Given the description of an element on the screen output the (x, y) to click on. 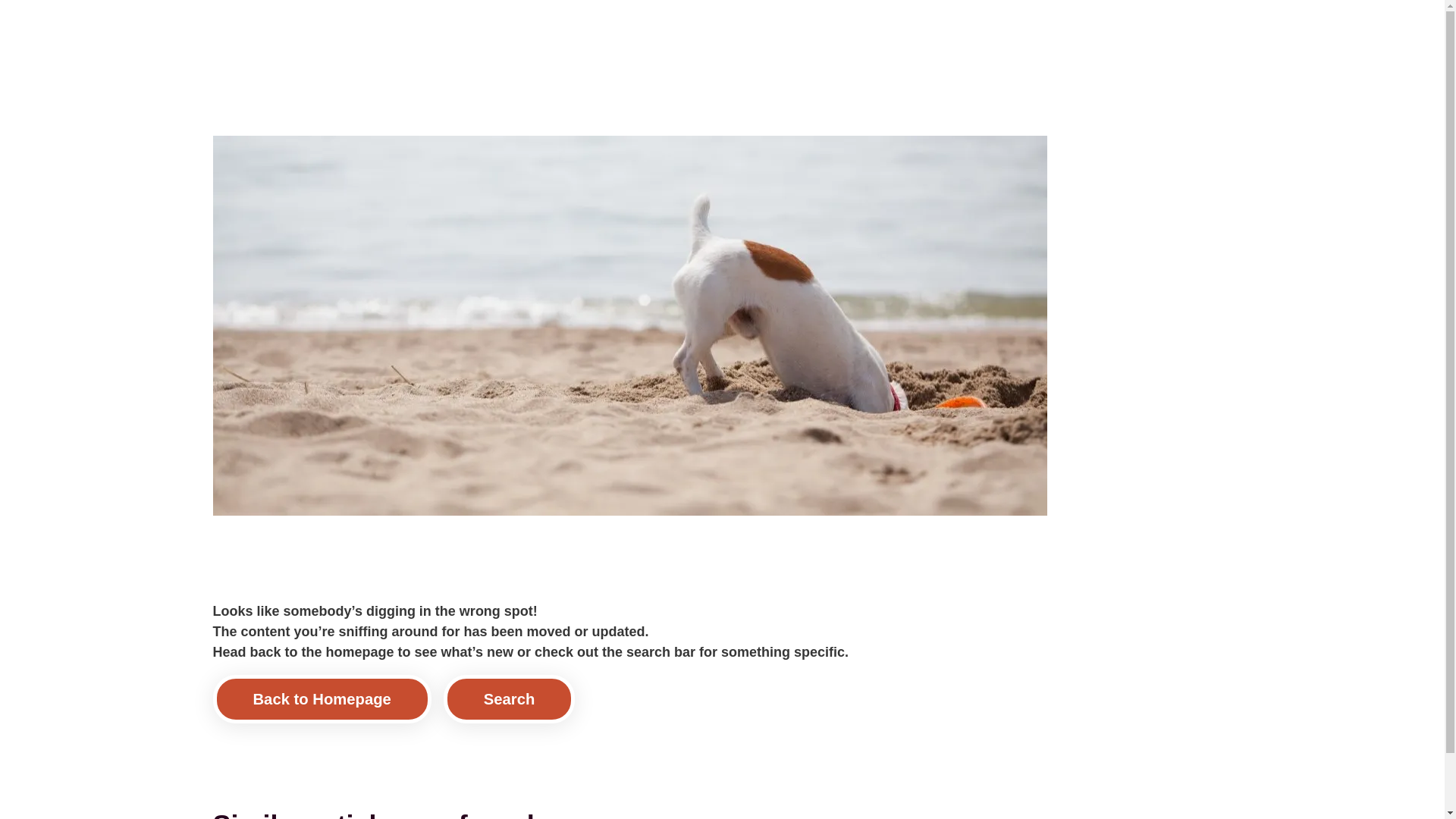
Search (509, 698)
Back to Homepage (321, 698)
Back to Homepage (321, 698)
Search (509, 698)
